Given the description of an element on the screen output the (x, y) to click on. 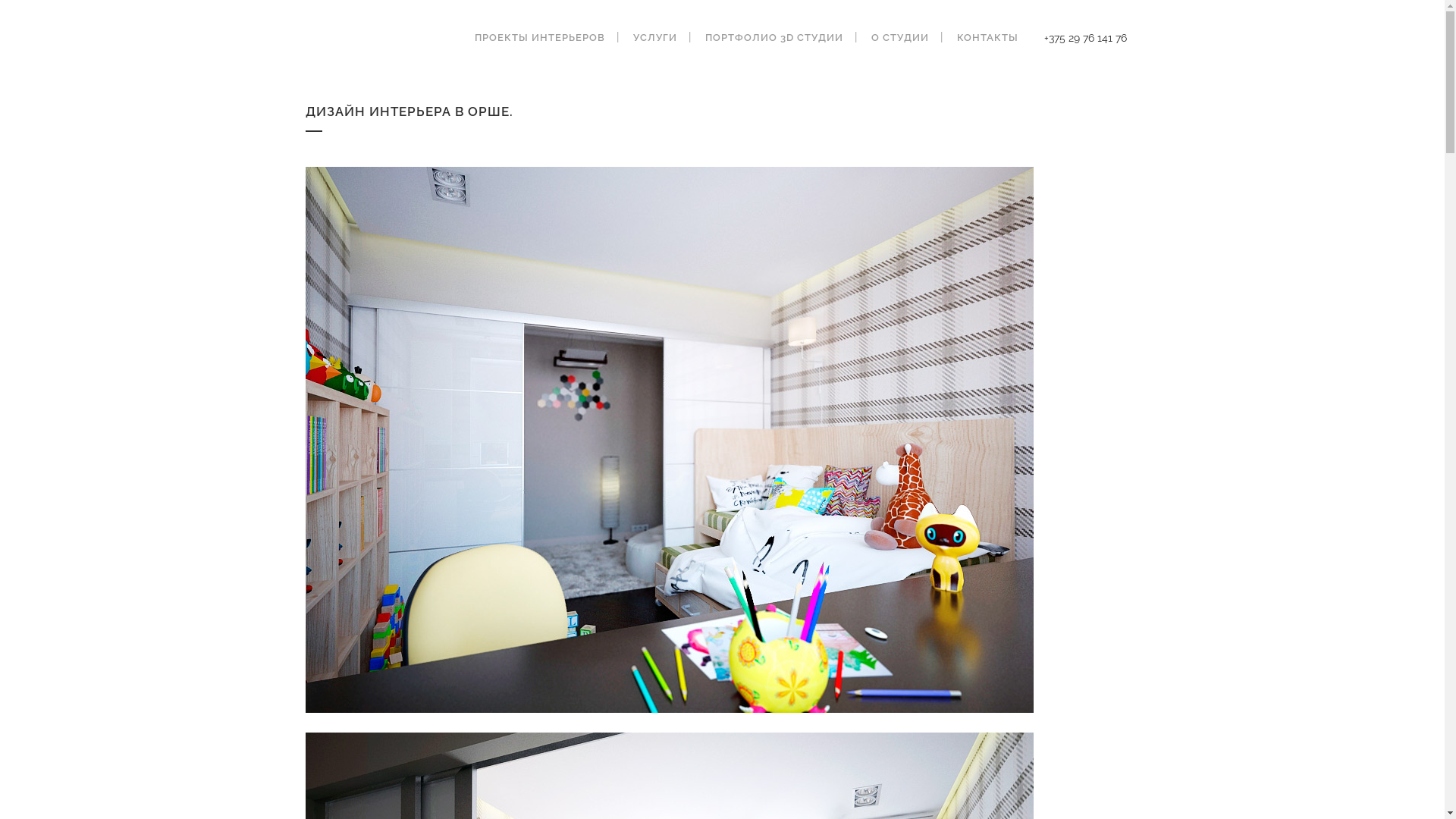
+375 29 76 141 76 Element type: text (1084, 37)
